Given the description of an element on the screen output the (x, y) to click on. 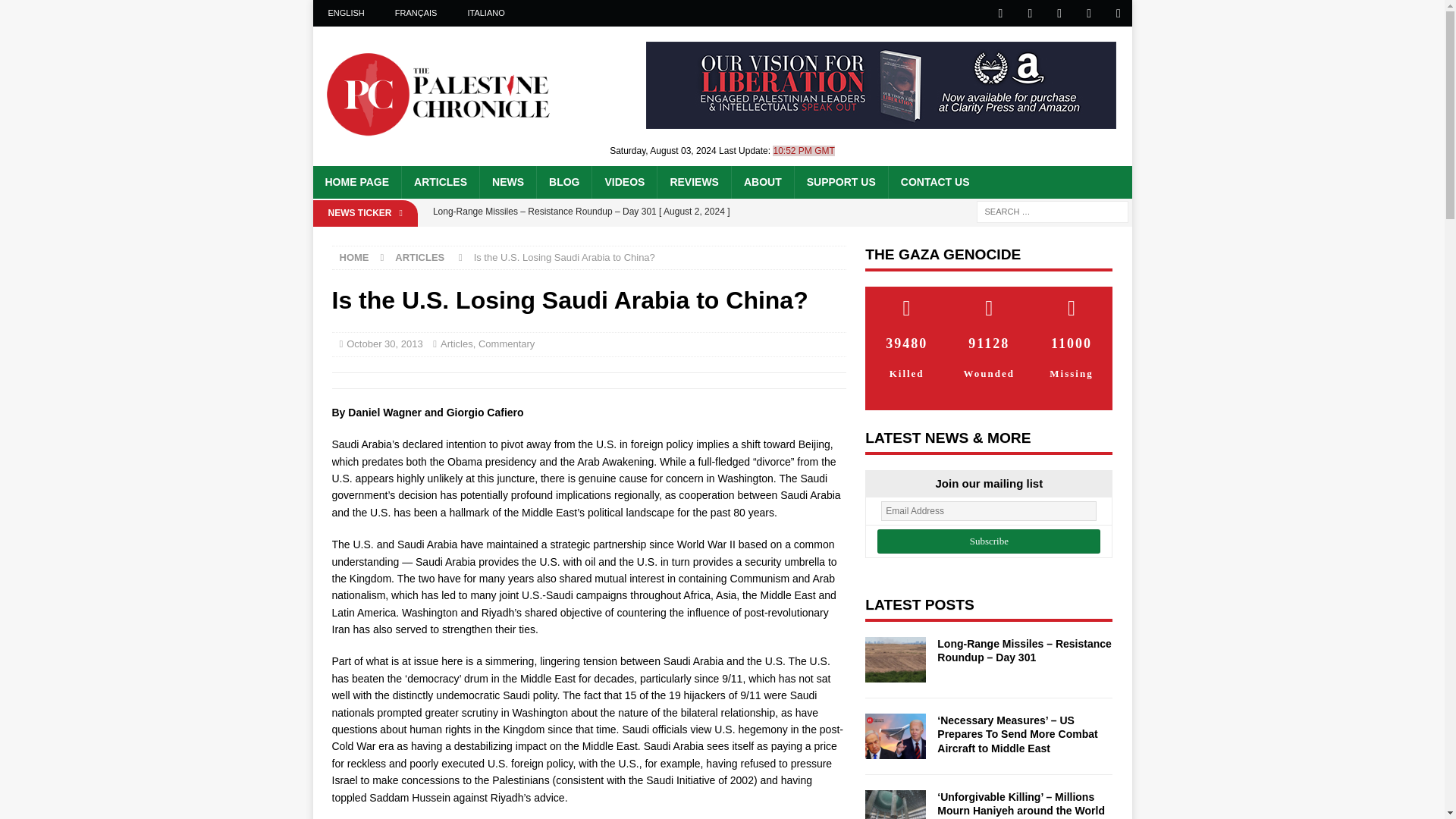
REVIEWS (693, 182)
CONTACT US (934, 182)
ITALIANO (485, 13)
SUPPORT US (840, 182)
VIDEOS (623, 182)
October 30, 2013 (384, 343)
BLOG (563, 182)
ENGLISH (345, 13)
ARTICLES (440, 182)
Search (56, 11)
HOME (354, 256)
Articles (457, 343)
HOME PAGE (357, 182)
Subscribe (988, 541)
